Given the description of an element on the screen output the (x, y) to click on. 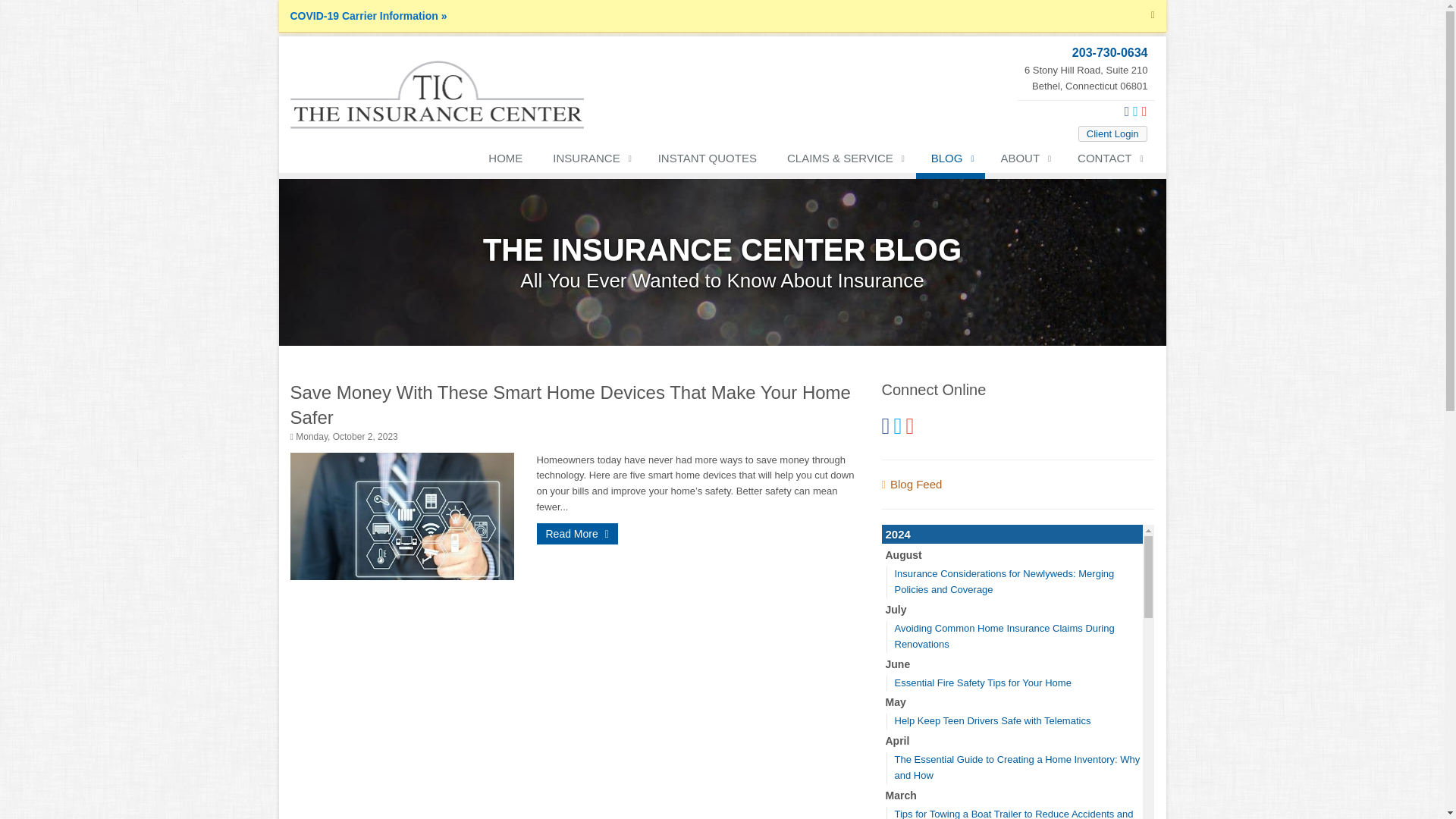
INSTANT QUOTES (707, 161)
HOME (505, 161)
INSURANCE (589, 161)
